Given the description of an element on the screen output the (x, y) to click on. 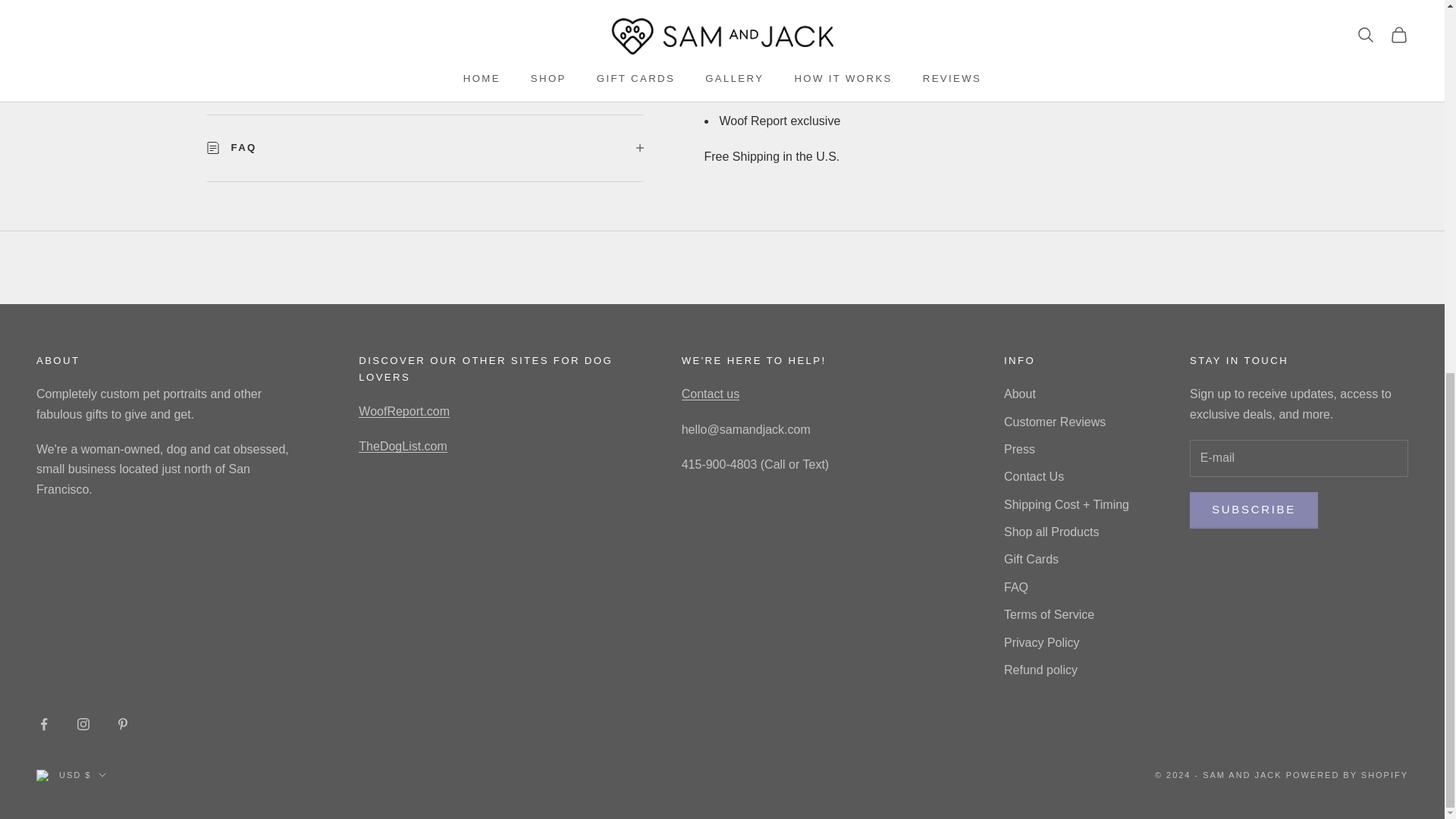
The Dog List (402, 445)
Woof Report (403, 410)
